Given the description of an element on the screen output the (x, y) to click on. 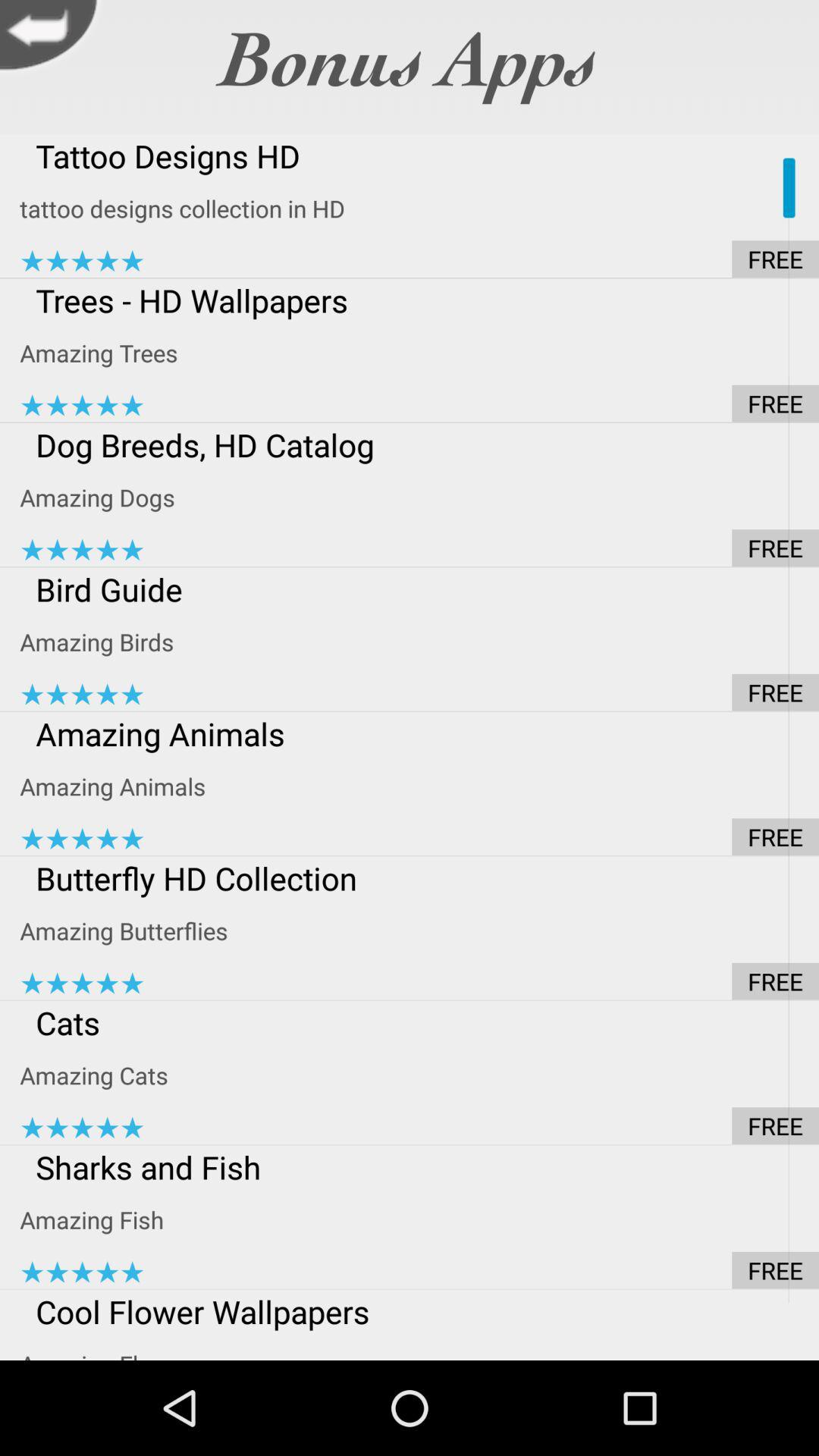
launch bird guide  app (419, 588)
